Given the description of an element on the screen output the (x, y) to click on. 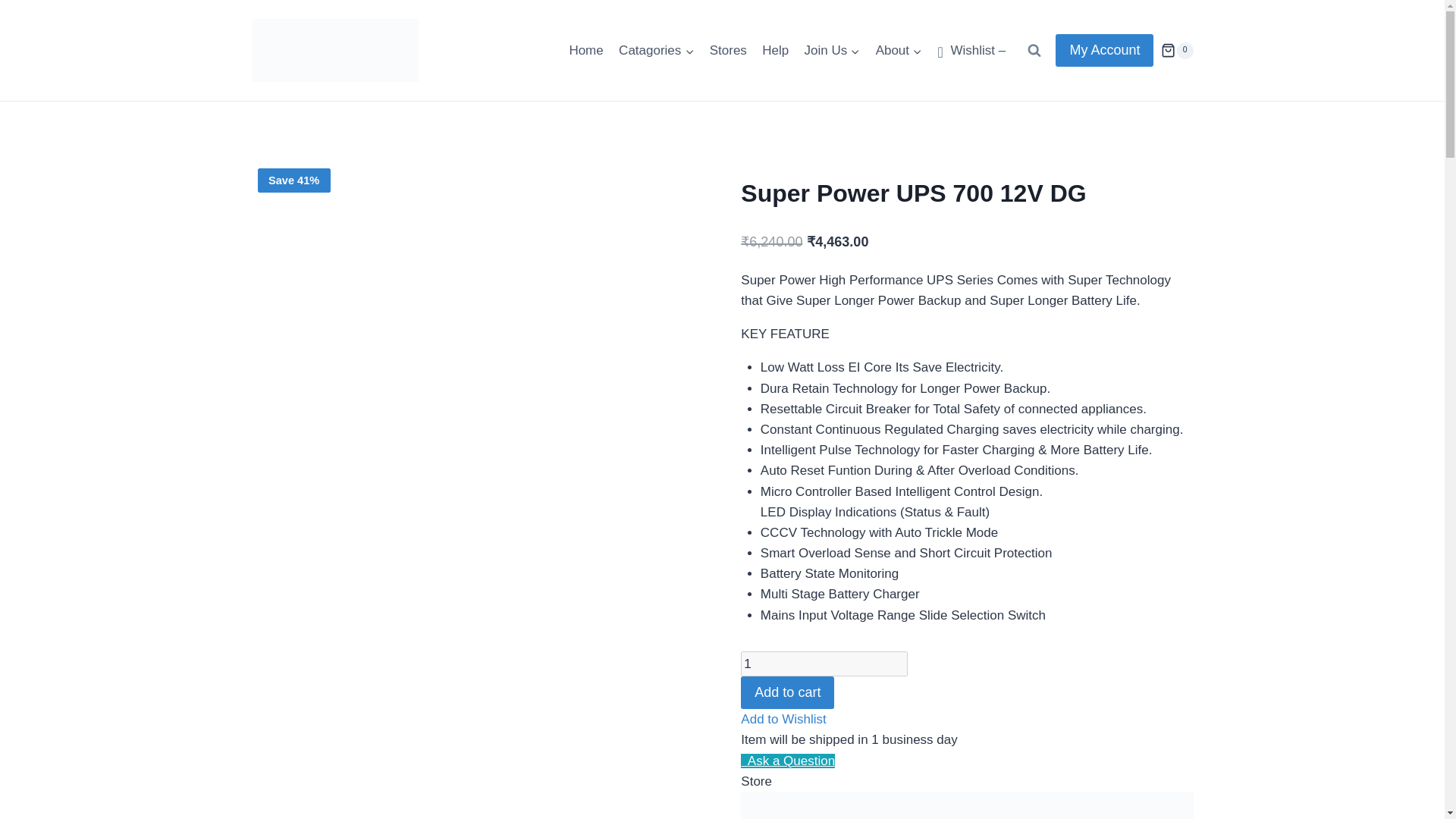
  Ask a Question (787, 760)
Catagories (656, 50)
Home (585, 50)
About (898, 50)
0 (1176, 50)
My Account (1104, 50)
Add to Wishlist (783, 718)
Help (775, 50)
Add to cart (787, 692)
Stores (728, 50)
